Given the description of an element on the screen output the (x, y) to click on. 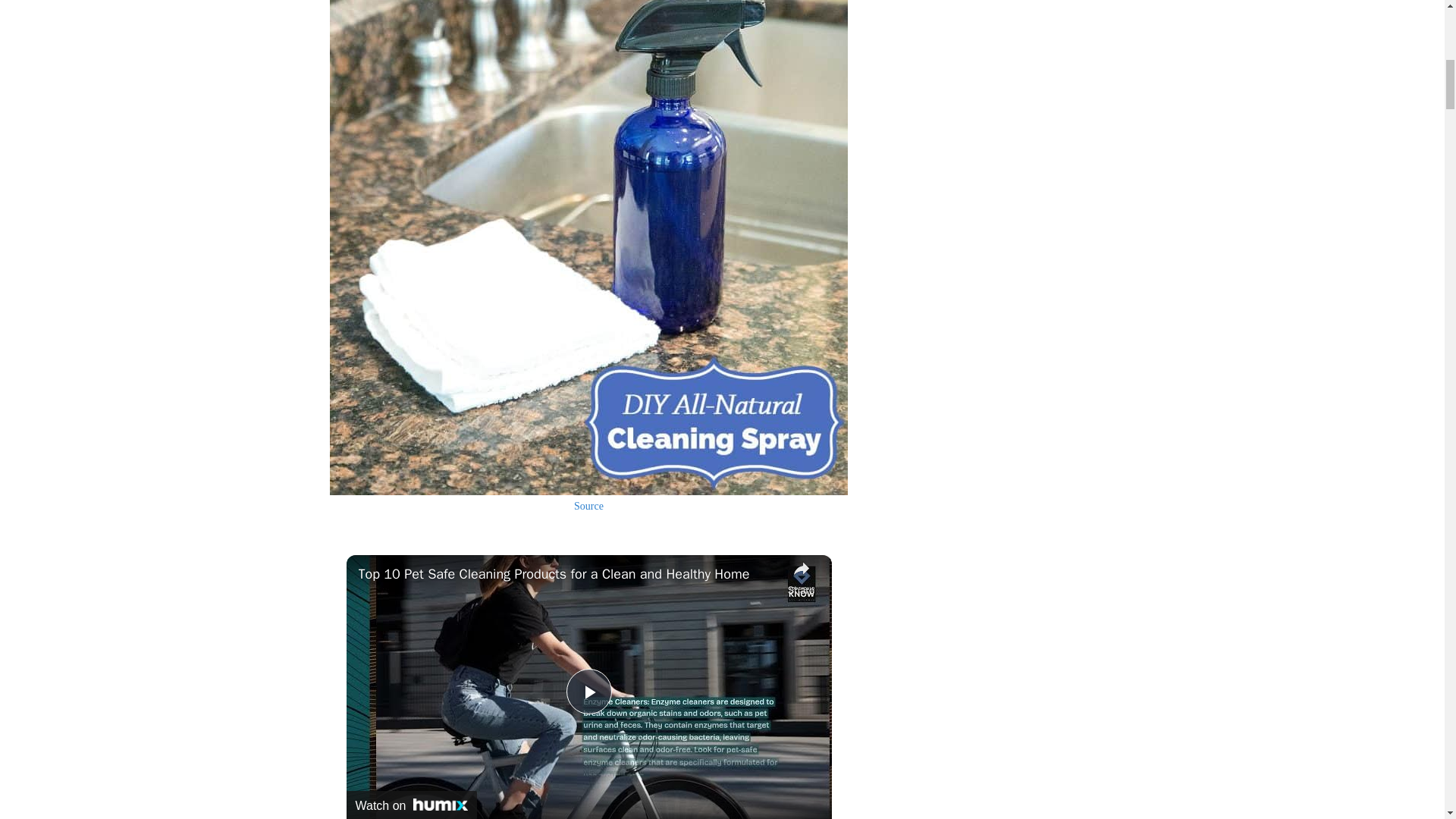
Watch on (411, 805)
Source (588, 505)
Play Video (588, 691)
Play Video (588, 691)
